Given the description of an element on the screen output the (x, y) to click on. 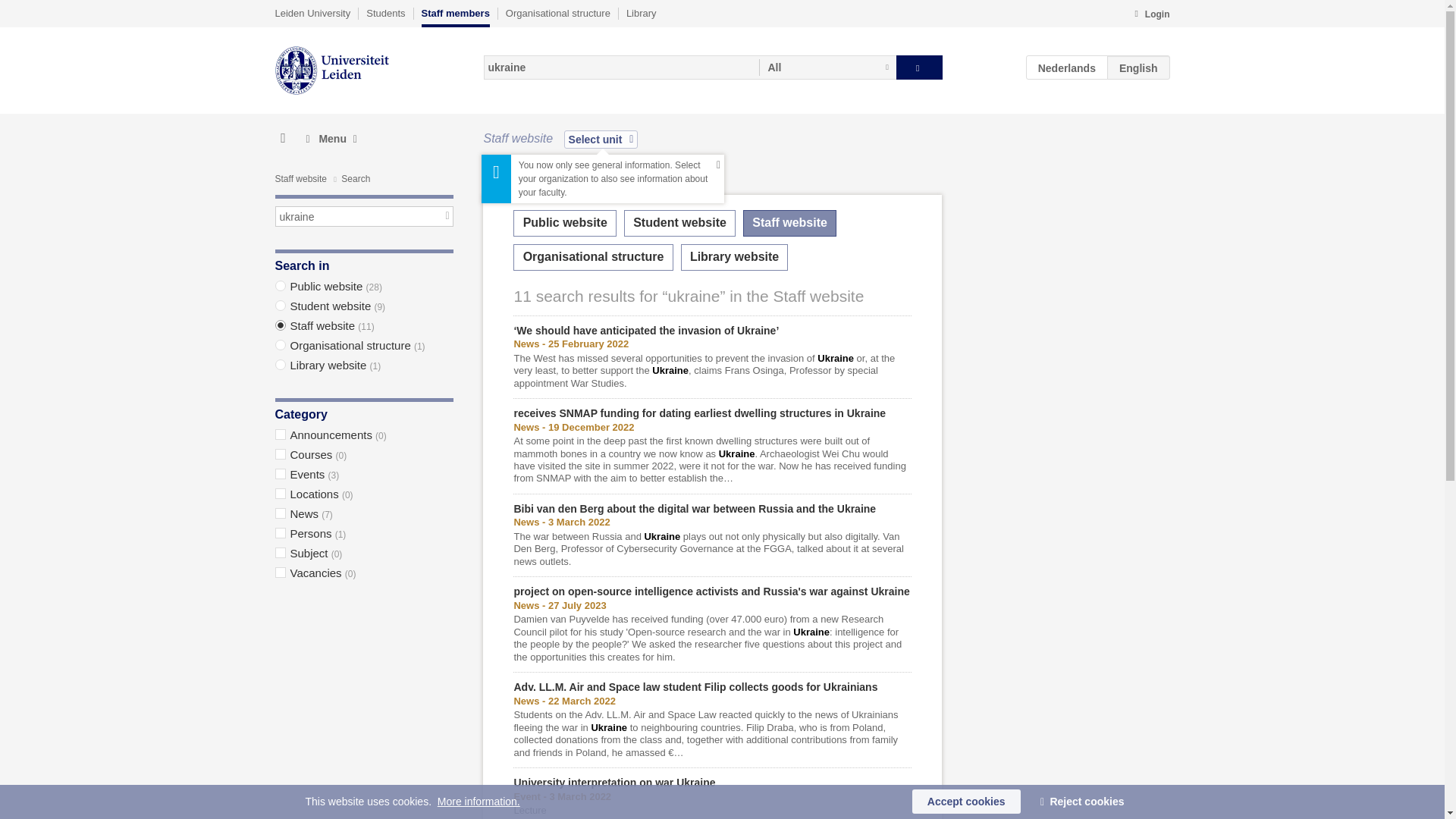
ukraine (363, 216)
NL (1067, 67)
Students (385, 13)
ukraine (620, 67)
Login (1151, 14)
Staff members (455, 17)
ukraine (620, 67)
Select unit (601, 139)
All (827, 67)
Menu (330, 139)
